Given the description of an element on the screen output the (x, y) to click on. 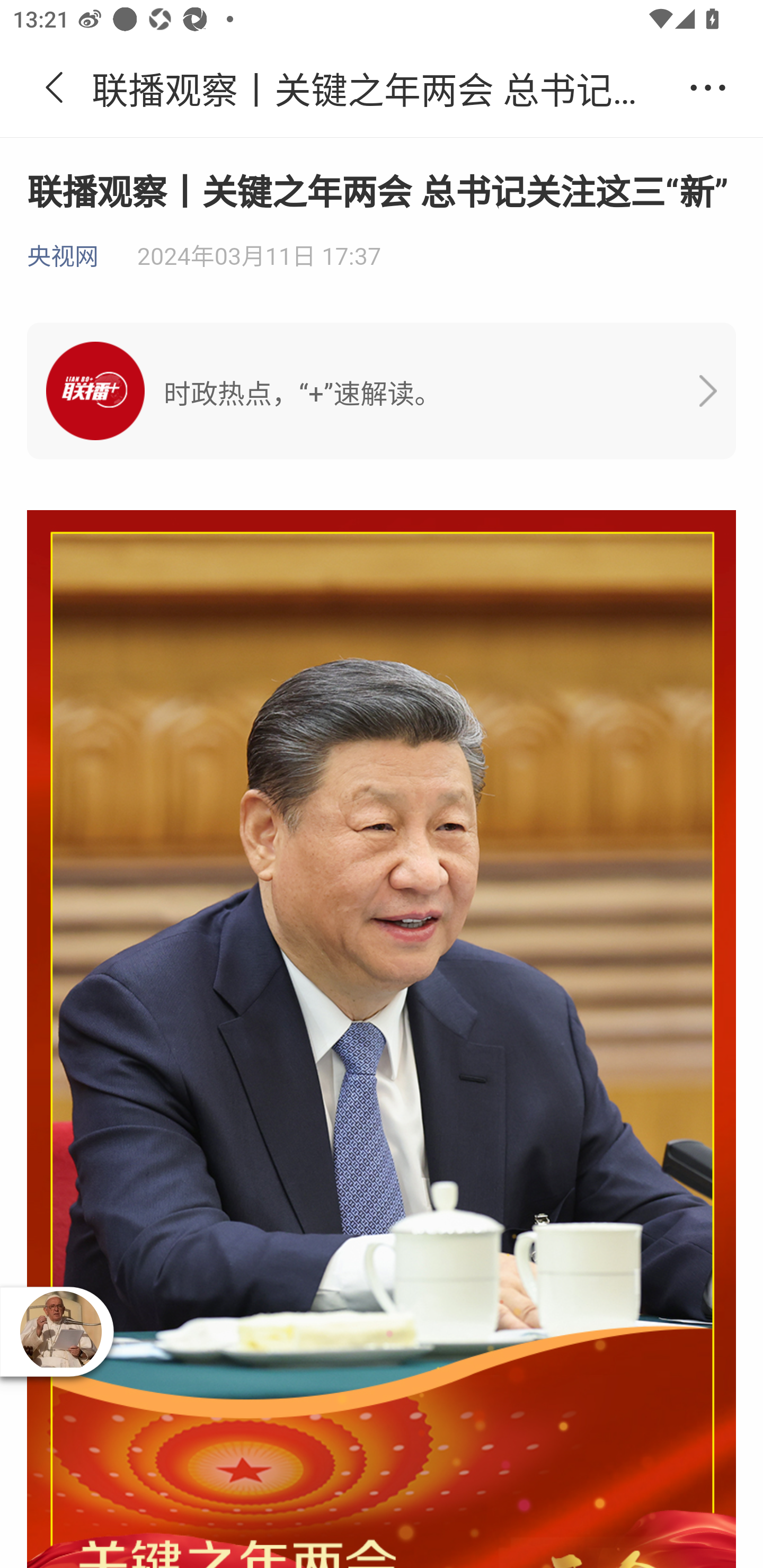
联播观察丨关键之年两会 总书记关注这三“新” (381, 87)
 返回 (54, 87)
 更多 (707, 87)
央视网 (62, 257)
时政热点，“+”速解读。 1617256979184_623 时政热点，“+”速解读。 (381, 390)
播放器 (60, 1331)
